Given the description of an element on the screen output the (x, y) to click on. 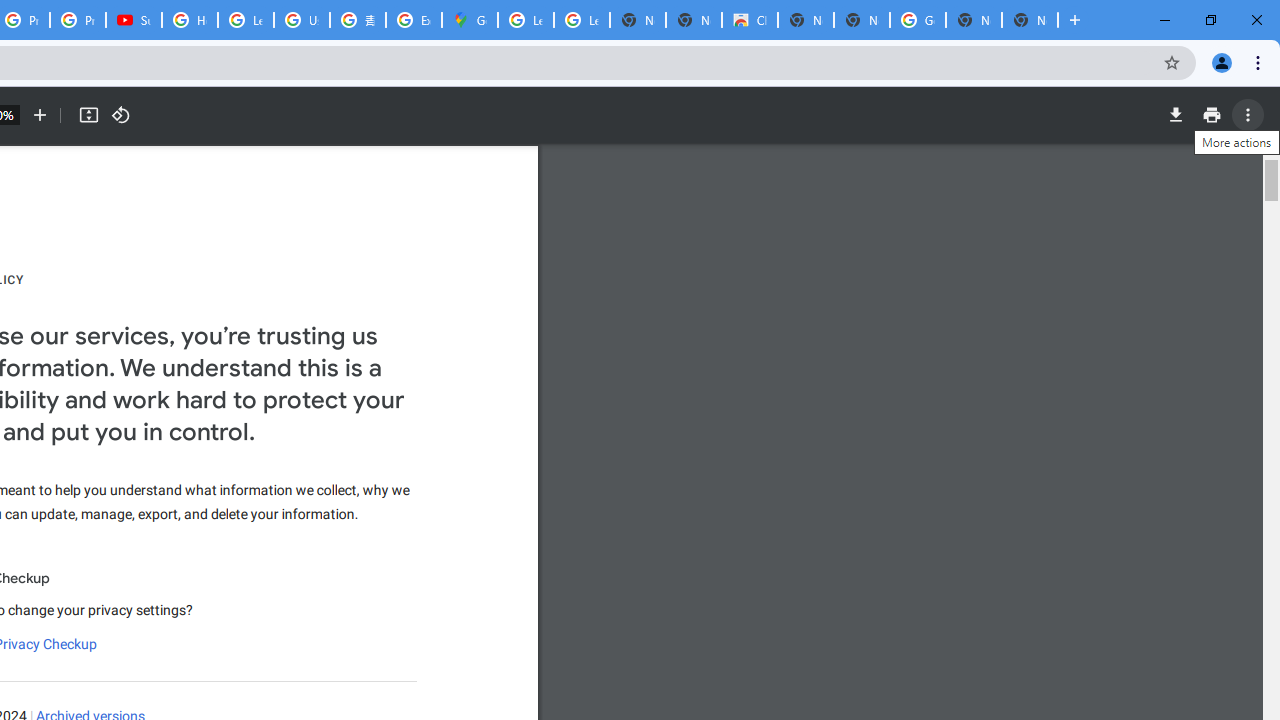
Zoom in (39, 115)
Fit to page (87, 115)
New Tab (1030, 20)
Subscriptions - YouTube (134, 20)
Google Images (917, 20)
Print (1211, 115)
